Given the description of an element on the screen output the (x, y) to click on. 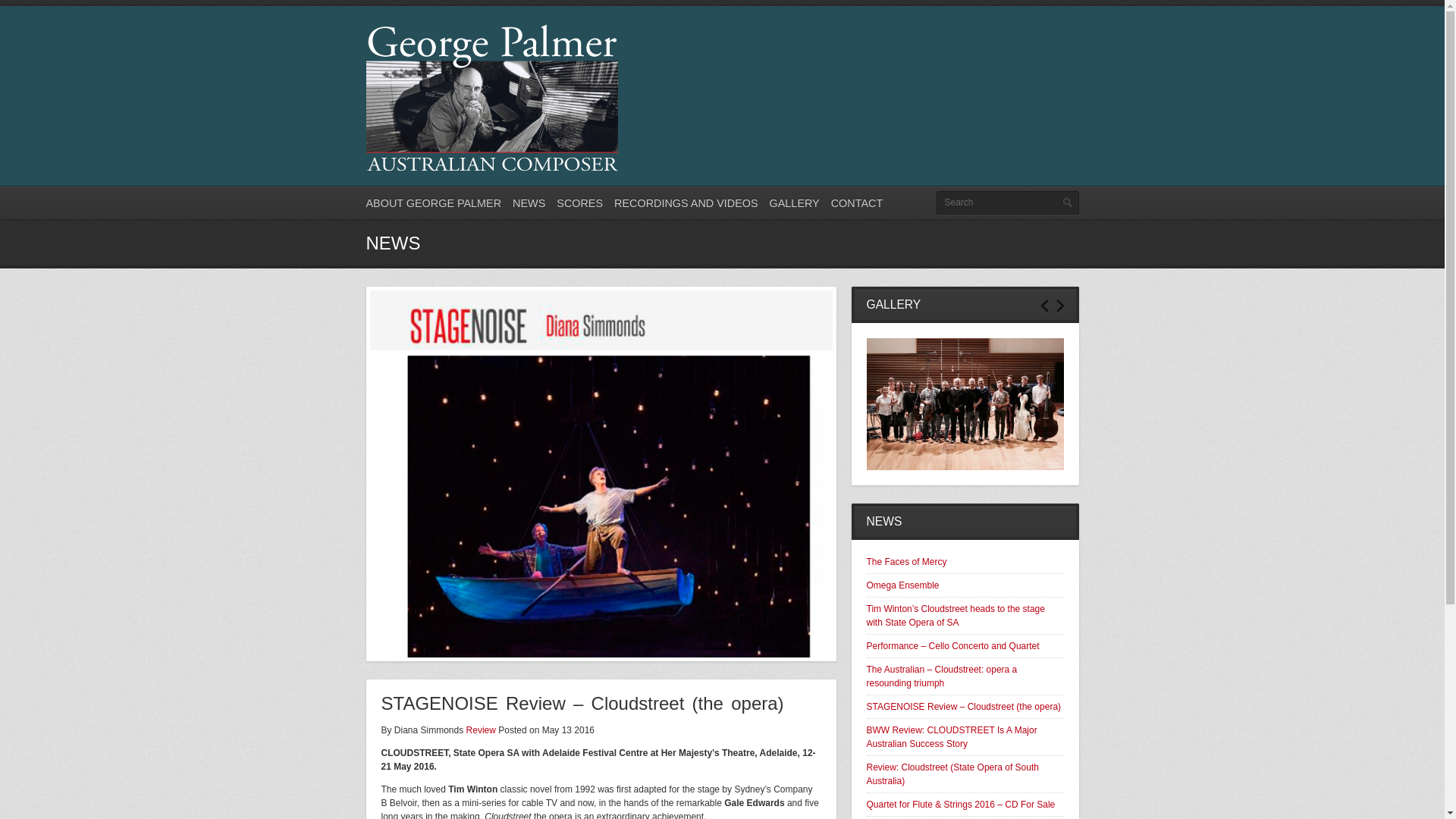
RECORDINGS AND VIDEOS Element type: text (686, 203)
NEWS Element type: text (528, 203)
Review Element type: text (480, 729)
Review: Cloudstreet (State Opera of South Australia) Element type: text (952, 774)
BWW Review: CLOUDSTREET Is A Major Australian Success Story Element type: text (951, 736)
ABOUT GEORGE PALMER Element type: text (433, 203)
The Faces of Mercy Element type: text (906, 561)
Omega Ensemble Element type: text (902, 585)
GALLERY Element type: text (794, 203)
SCORES Element type: text (579, 203)
CONTACT Element type: text (856, 203)
